Given the description of an element on the screen output the (x, y) to click on. 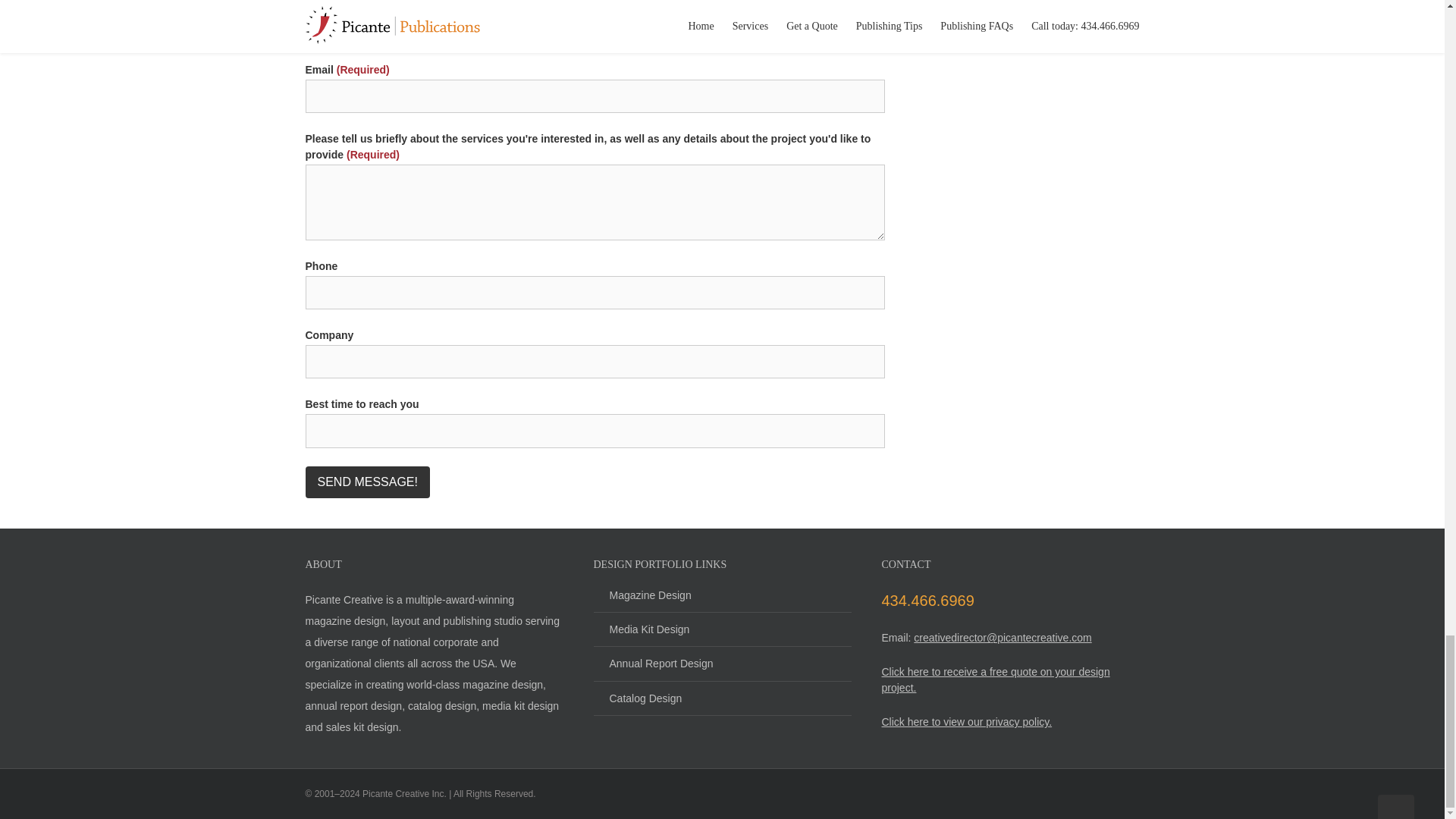
Catalog Design (721, 697)
Click here to receive a free quote on your design project. (994, 679)
Media Kit Design (721, 629)
Magazine Design (721, 599)
SEND MESSAGE! (366, 481)
Click here to view our privacy policy. (965, 721)
Annual Report Design (721, 663)
434.466.6969 (927, 600)
